Given the description of an element on the screen output the (x, y) to click on. 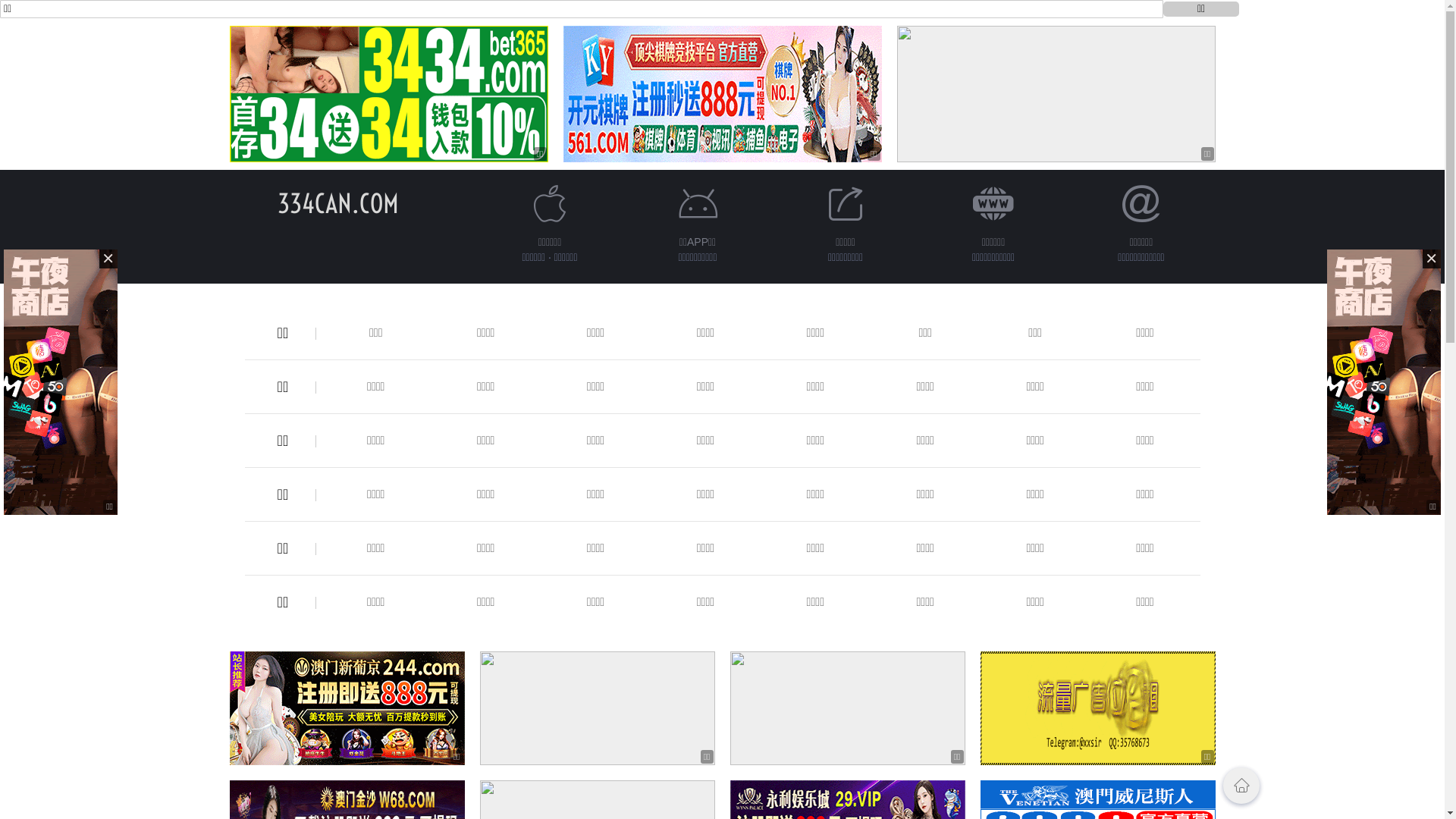
334CAN.COM Element type: text (337, 203)
